Given the description of an element on the screen output the (x, y) to click on. 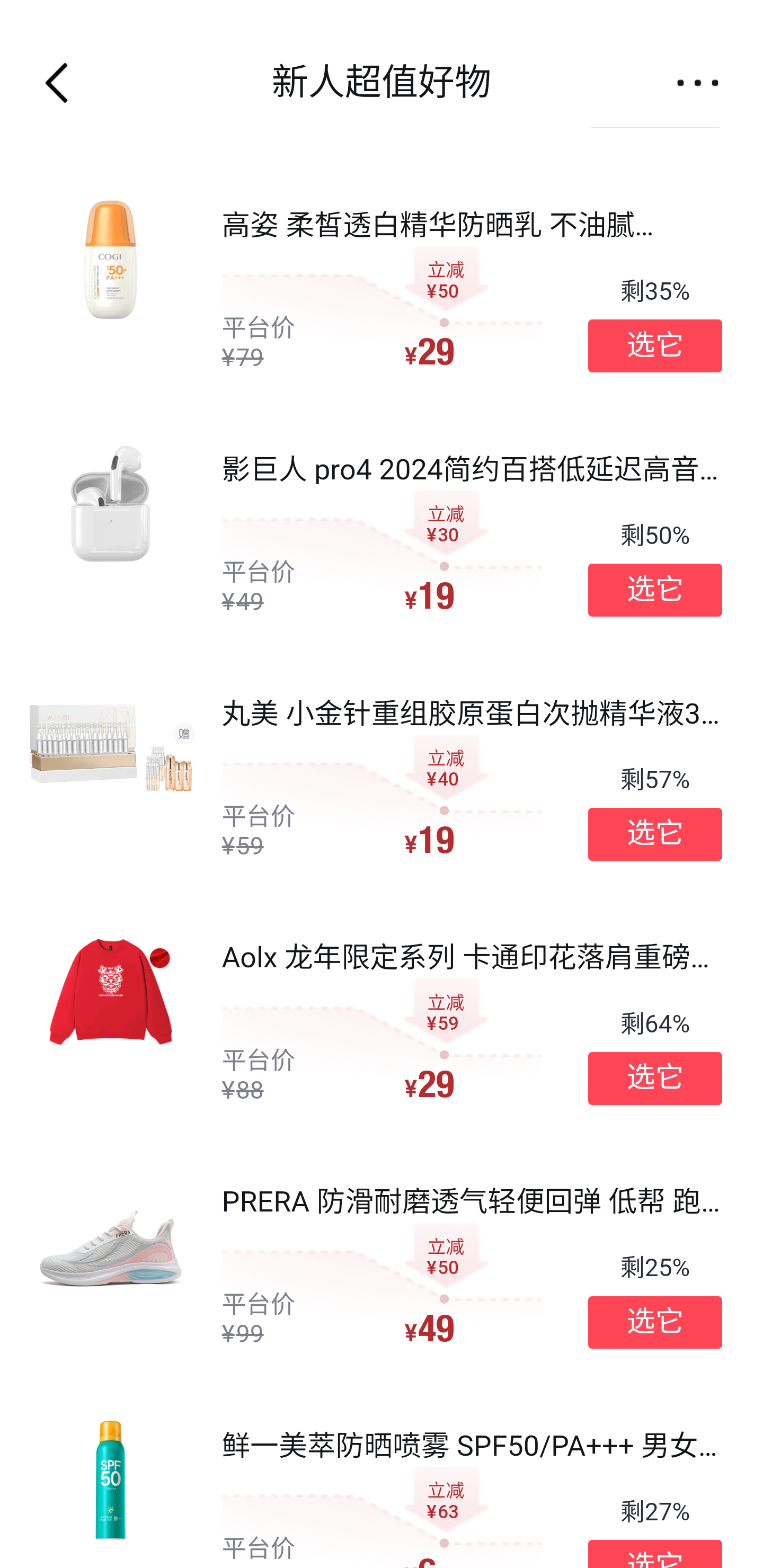
选它 (654, 346)
选它 (654, 589)
选它 (654, 833)
选它 (654, 1077)
选它 (654, 1321)
选它 (654, 1553)
